Given the description of an element on the screen output the (x, y) to click on. 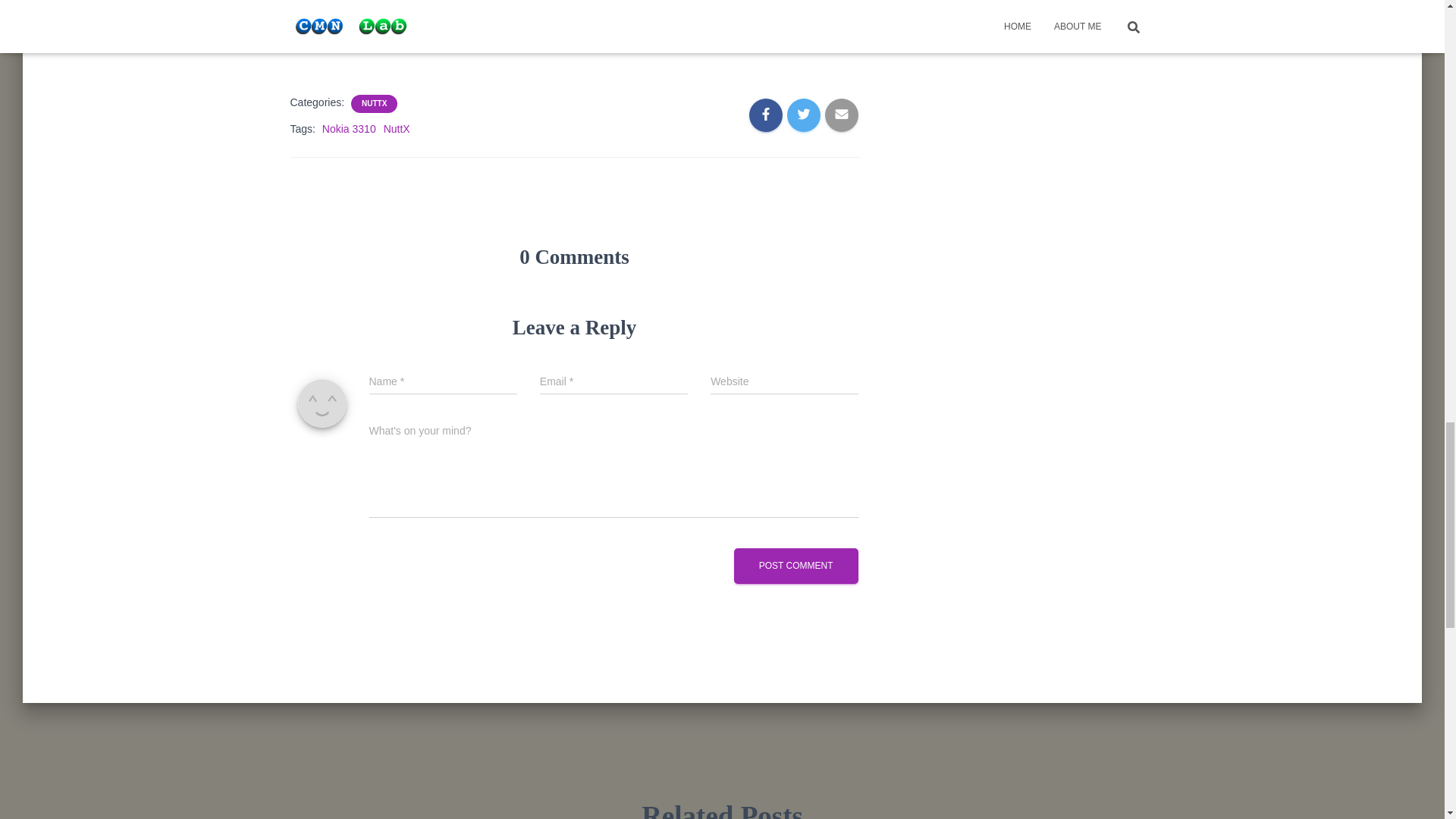
Post Comment (796, 565)
Nokia 3310 (348, 128)
NUTTX (373, 103)
Post Comment (796, 565)
NuttX (397, 128)
